Given the description of an element on the screen output the (x, y) to click on. 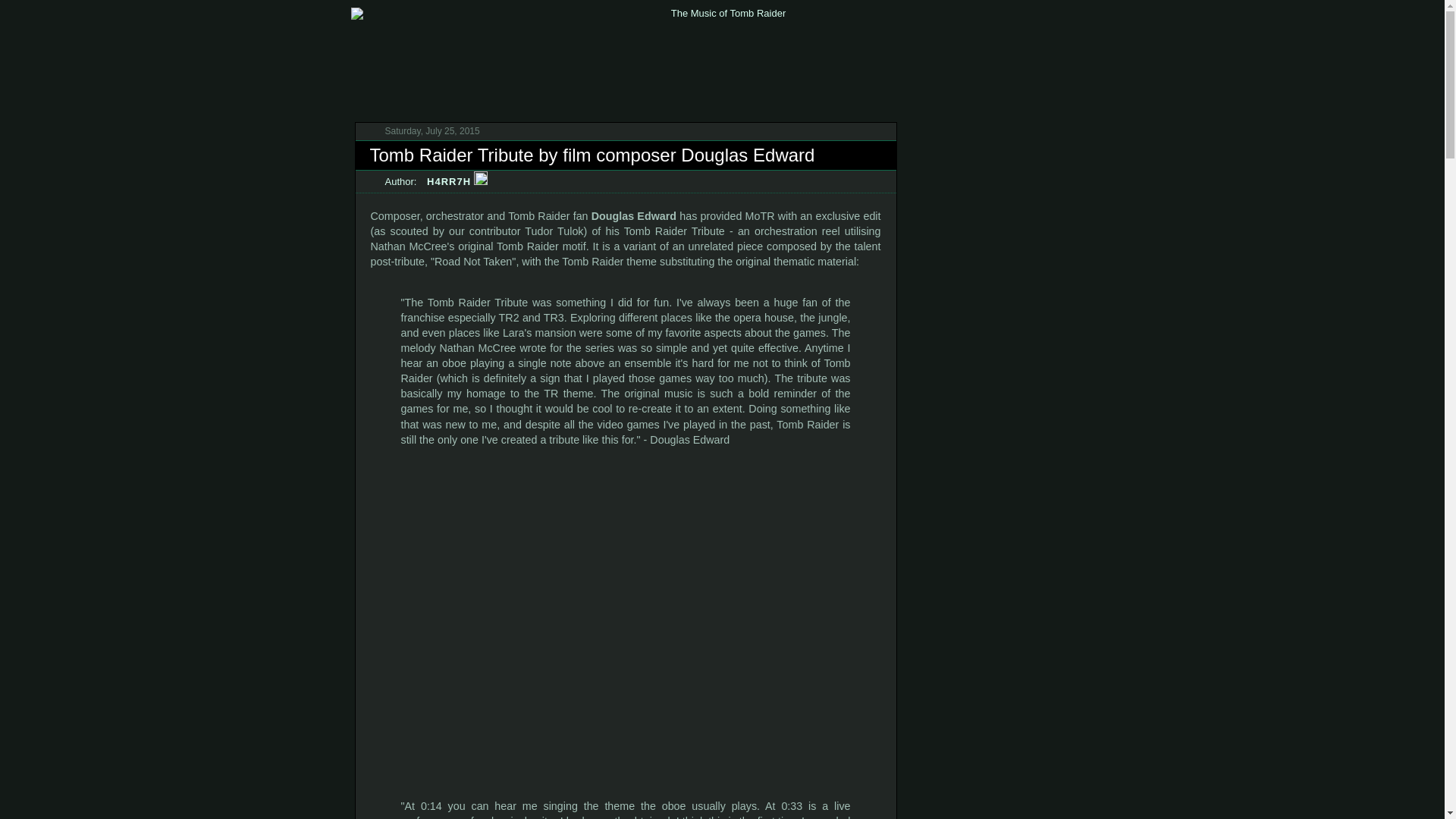
Edit Post (480, 181)
